Given the description of an element on the screen output the (x, y) to click on. 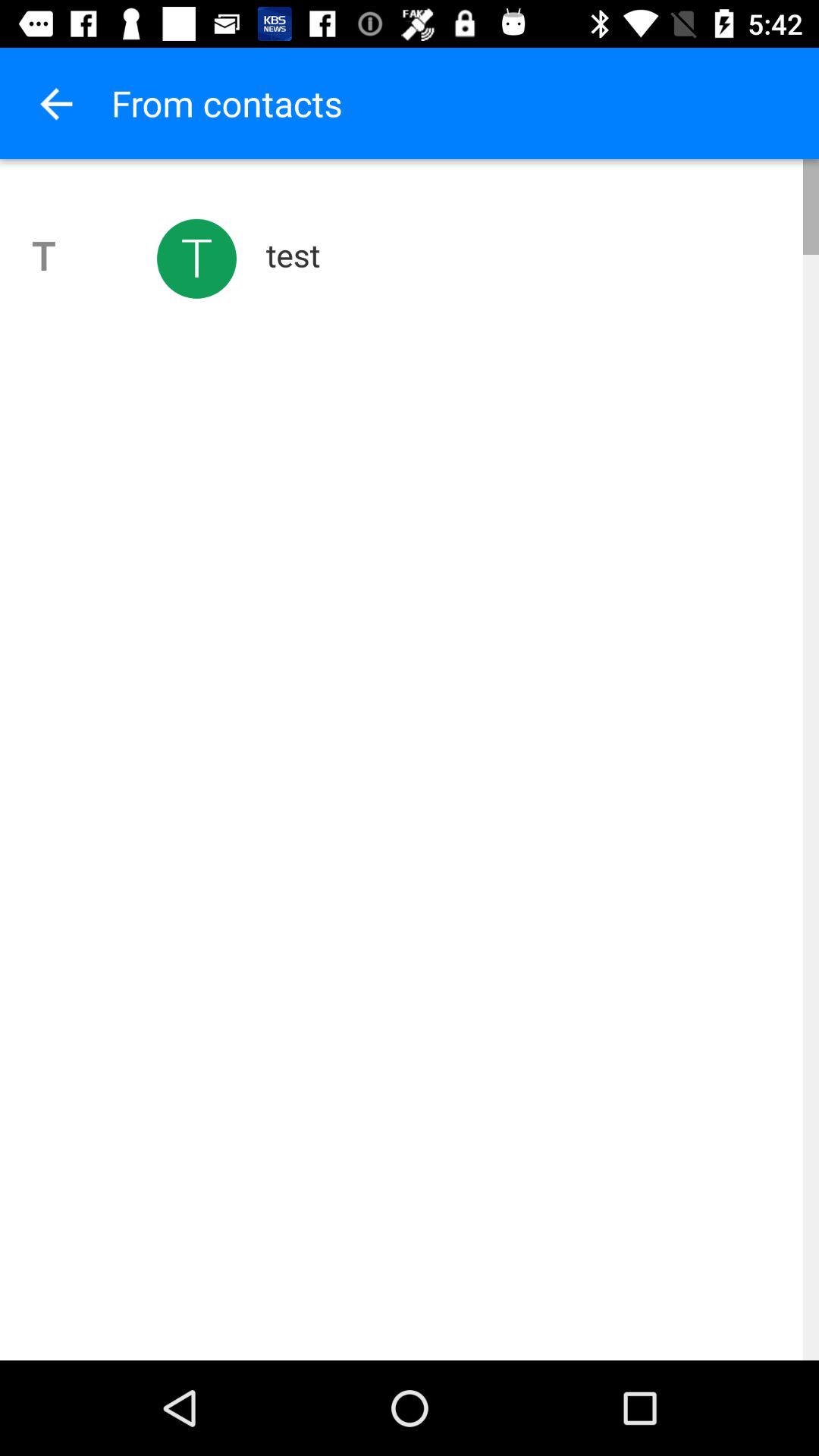
choose the item to the left of the from contacts (55, 103)
